Given the description of an element on the screen output the (x, y) to click on. 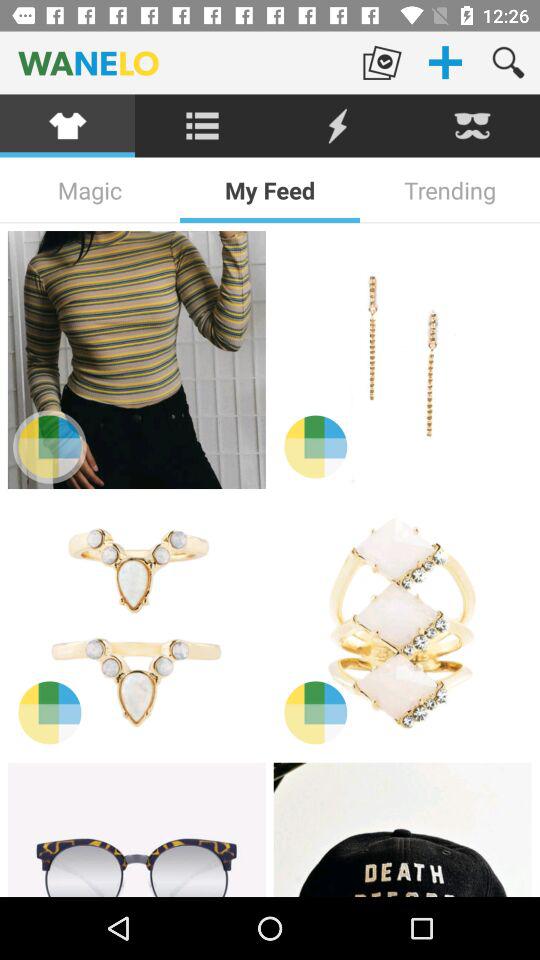
item selection (136, 625)
